Given the description of an element on the screen output the (x, y) to click on. 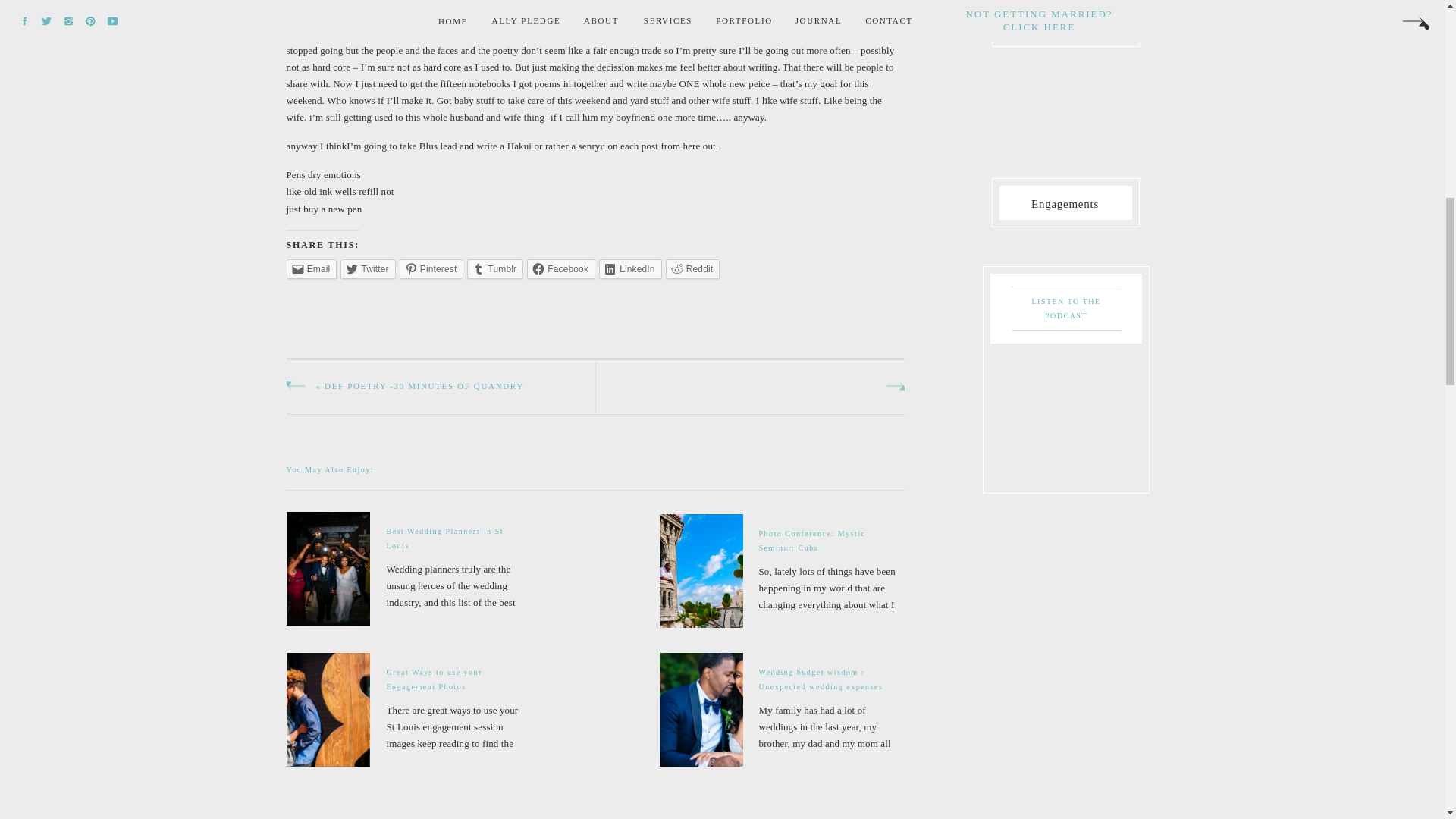
Photo Conference: Mystic Seminar: Cuba (782, 569)
Click to share on LinkedIn (630, 269)
Best Wedding Planners in St Louis (408, 568)
Click to share on Twitter (367, 269)
Click to share on Tumblr (494, 269)
Click to share on Facebook (561, 269)
Click to email a link to a friend (311, 269)
Click to share on Pinterest (431, 269)
Great Ways to use your Engagement Photos (409, 709)
Click to share on Reddit (692, 269)
Wedding budget wisdom : Unexpected wedding expenses (782, 710)
